Given the description of an element on the screen output the (x, y) to click on. 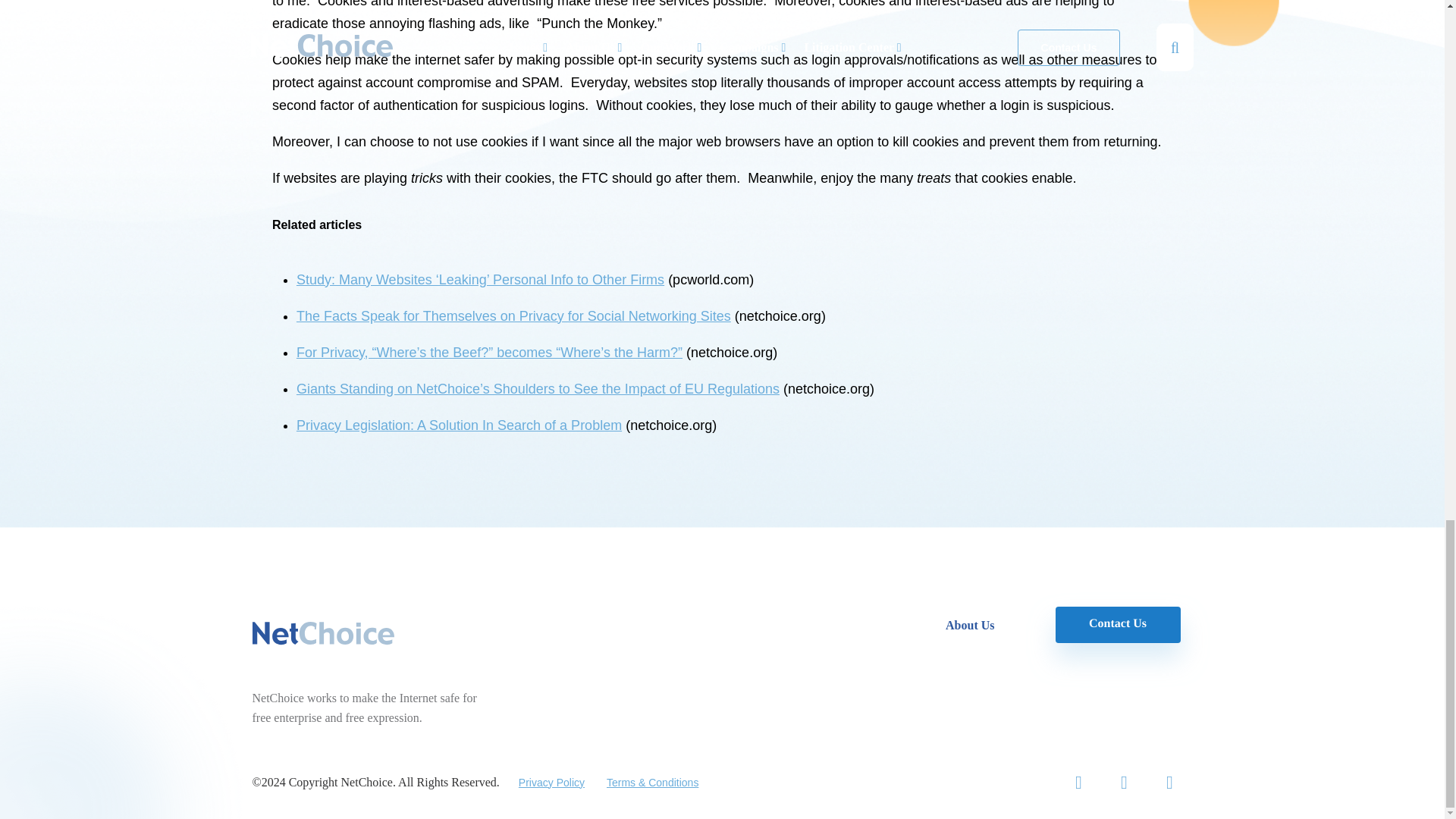
Twitter (1077, 782)
YouTube (1169, 782)
Facebook (1123, 782)
